Given the description of an element on the screen output the (x, y) to click on. 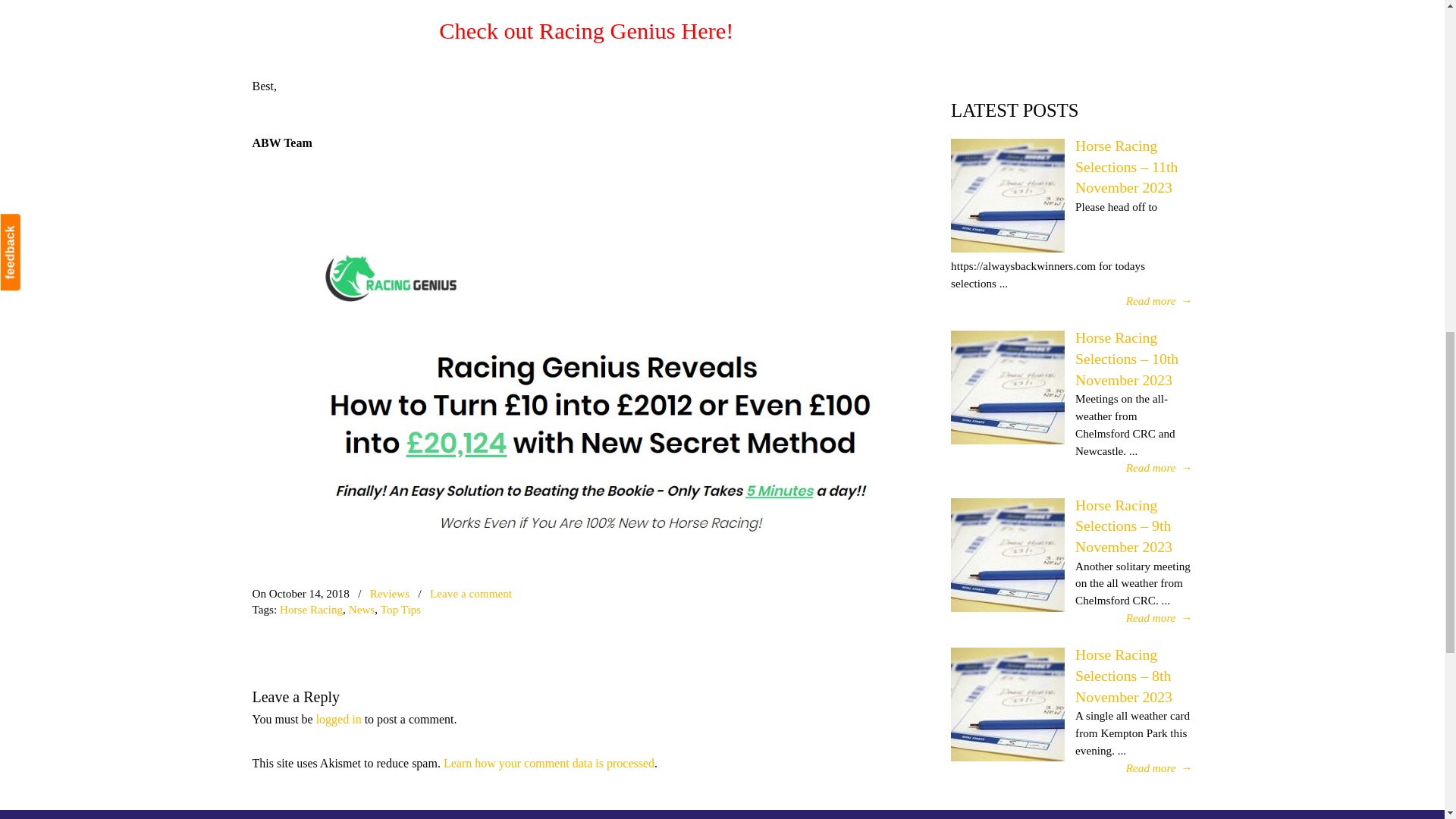
Leave a comment (470, 593)
Top Tips (400, 609)
News (362, 609)
Reviews (389, 593)
logged in (338, 718)
Learn how your comment data is processed (548, 762)
Check out Racing Genius Here! (586, 31)
Horse Racing (310, 609)
